Given the description of an element on the screen output the (x, y) to click on. 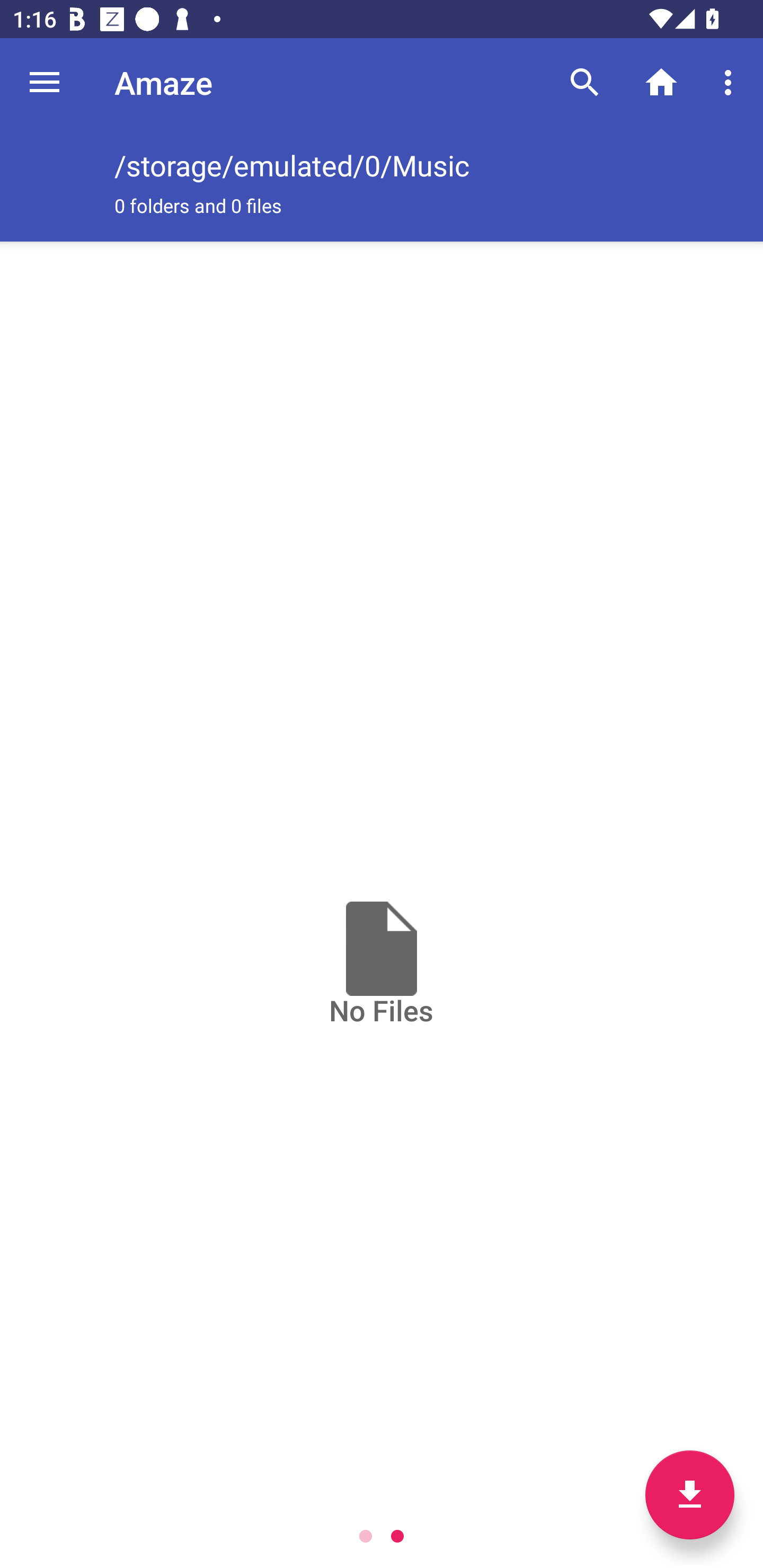
Navigate up (44, 82)
Search (585, 81)
Home (661, 81)
More options (731, 81)
